Given the description of an element on the screen output the (x, y) to click on. 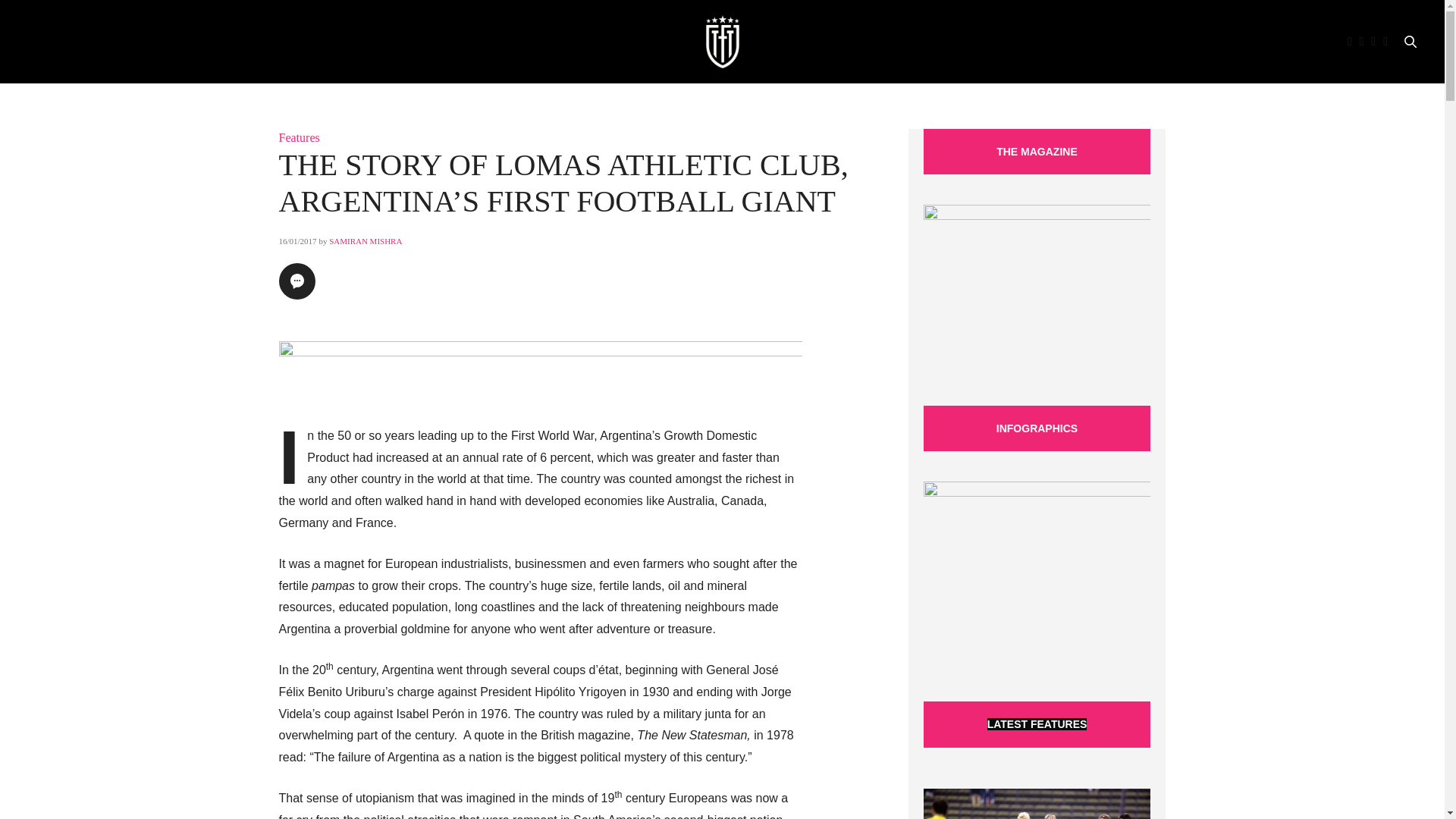
Features (299, 137)
Posts by Samiran Mishra (365, 240)
SAMIRAN MISHRA (365, 240)
